Given the description of an element on the screen output the (x, y) to click on. 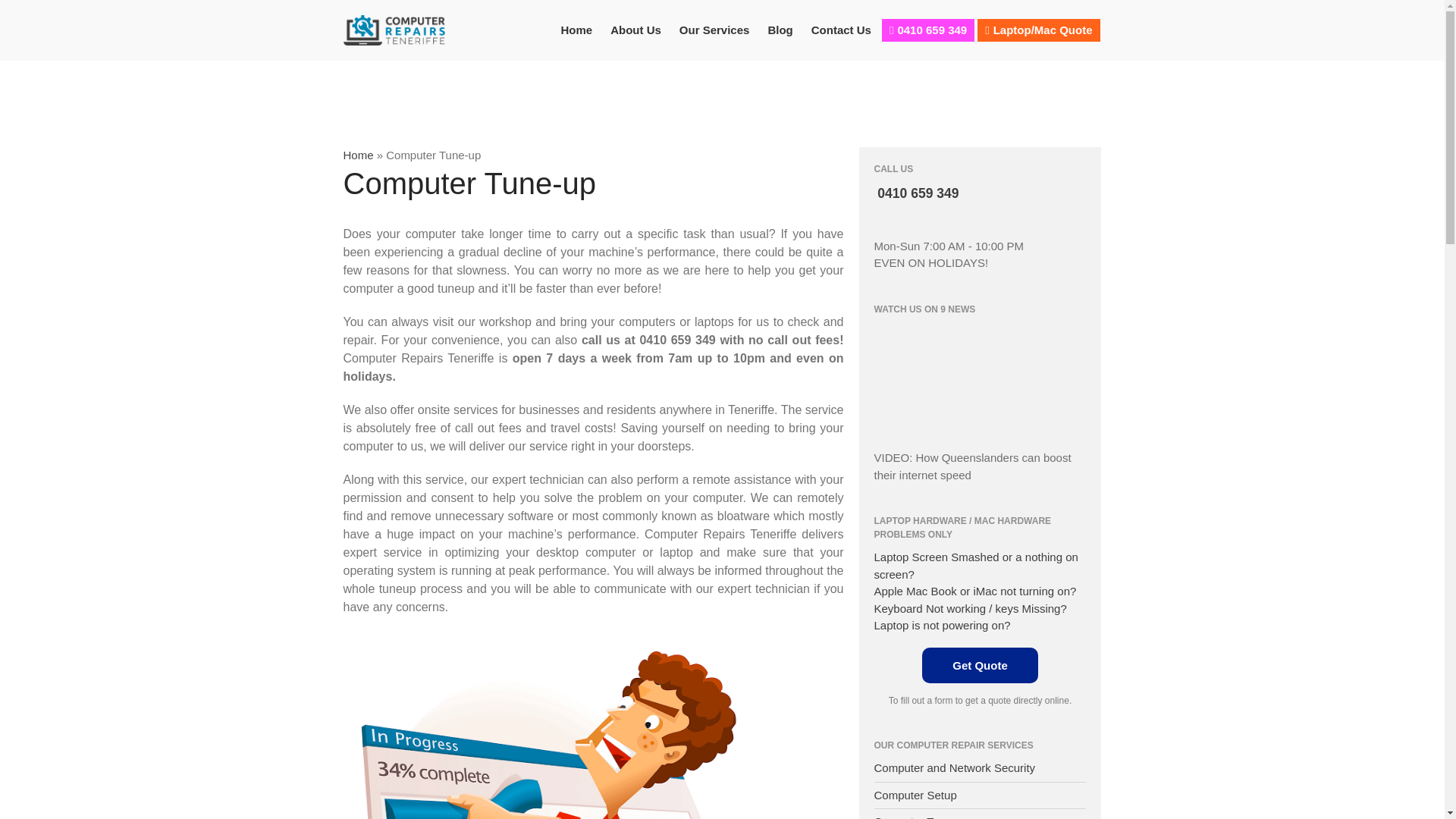
Home (576, 29)
0410 659 349 (928, 29)
Our Services (714, 29)
Computer Repairs Teneriffe (545, 39)
Contact Us (841, 29)
Computer Setup (914, 794)
Computer and Network Security (954, 767)
Computer Tune-up (920, 816)
Get Quote (979, 665)
 0410 659 349 (915, 192)
About Us (635, 29)
Home (357, 154)
Blog (779, 29)
